Given the description of an element on the screen output the (x, y) to click on. 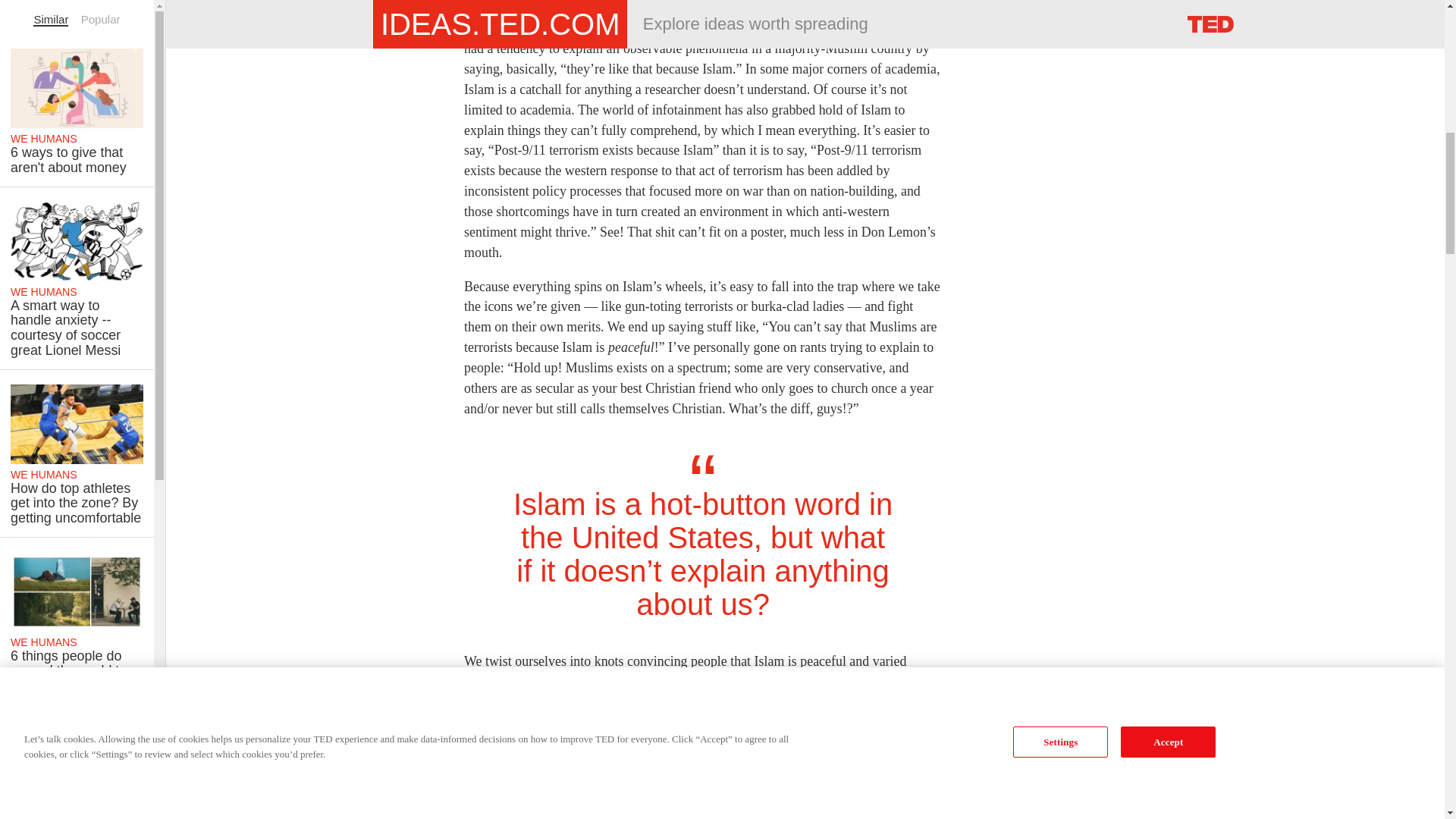
Sign Up (1006, 6)
Sign Up (1006, 6)
